Given the description of an element on the screen output the (x, y) to click on. 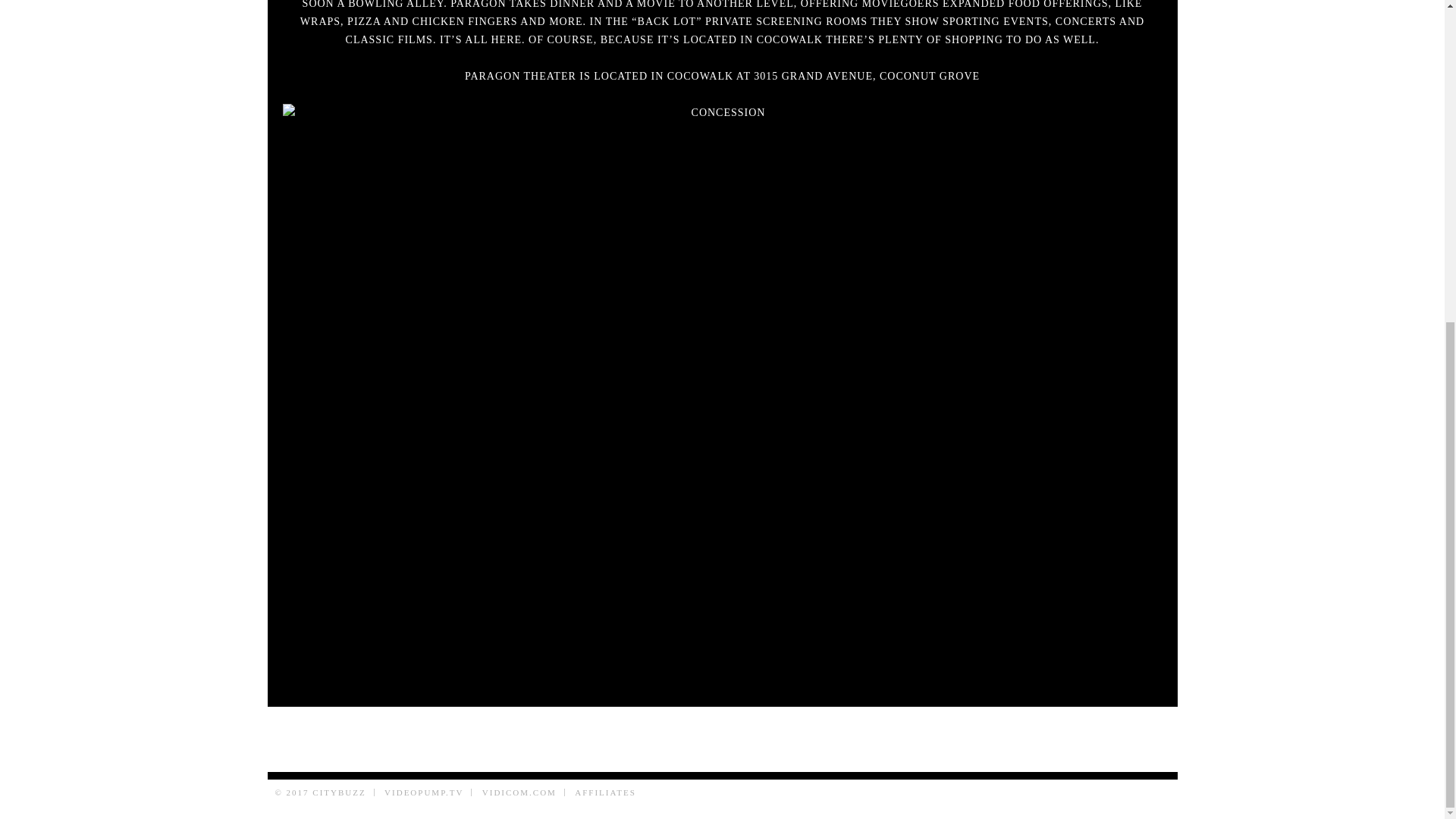
VIDEOPUMP.TV (423, 791)
VIDICOM.COM (518, 791)
AFFILIATES (605, 791)
